Given the description of an element on the screen output the (x, y) to click on. 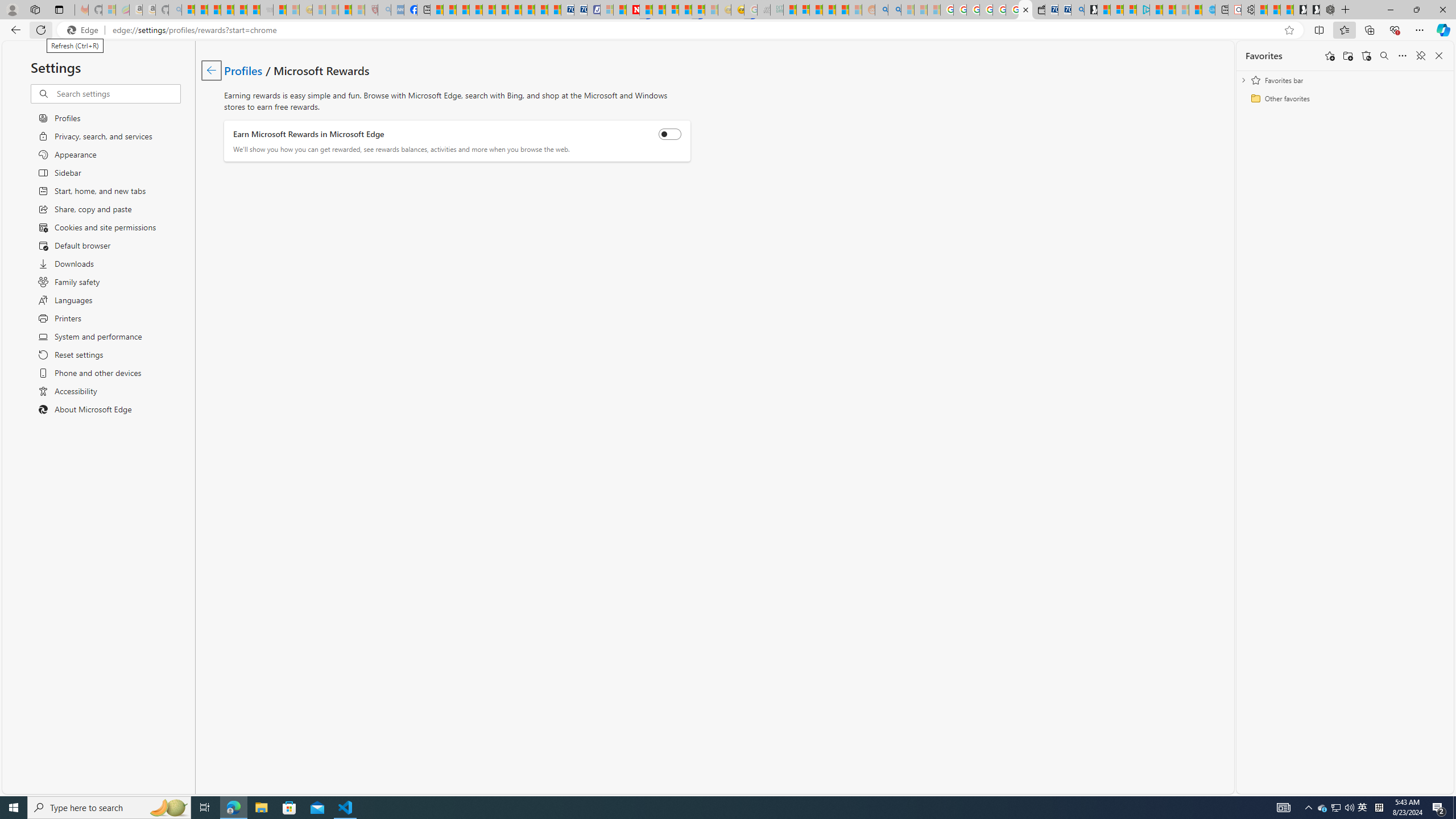
The Weather Channel - MSN (213, 9)
Search settings (117, 93)
Student Loan Update: Forgiveness Program Ends This Month (842, 9)
